Given the description of an element on the screen output the (x, y) to click on. 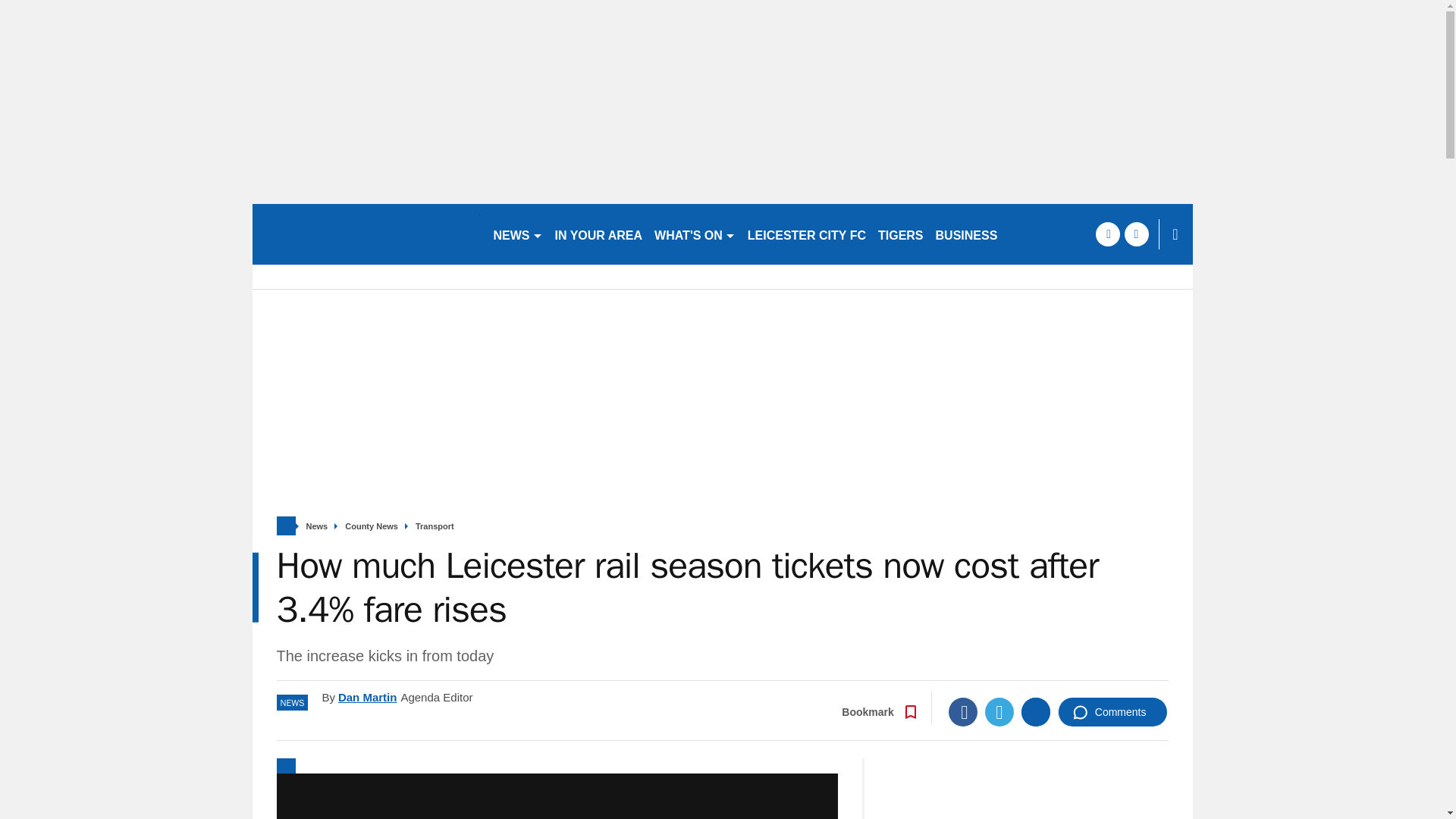
facebook (1106, 233)
TIGERS (901, 233)
BUSINESS (967, 233)
LEICESTER CITY FC (806, 233)
WHAT'S ON (694, 233)
leicestermercury (365, 233)
Facebook (962, 711)
twitter (1136, 233)
NEWS (517, 233)
Twitter (999, 711)
